Given the description of an element on the screen output the (x, y) to click on. 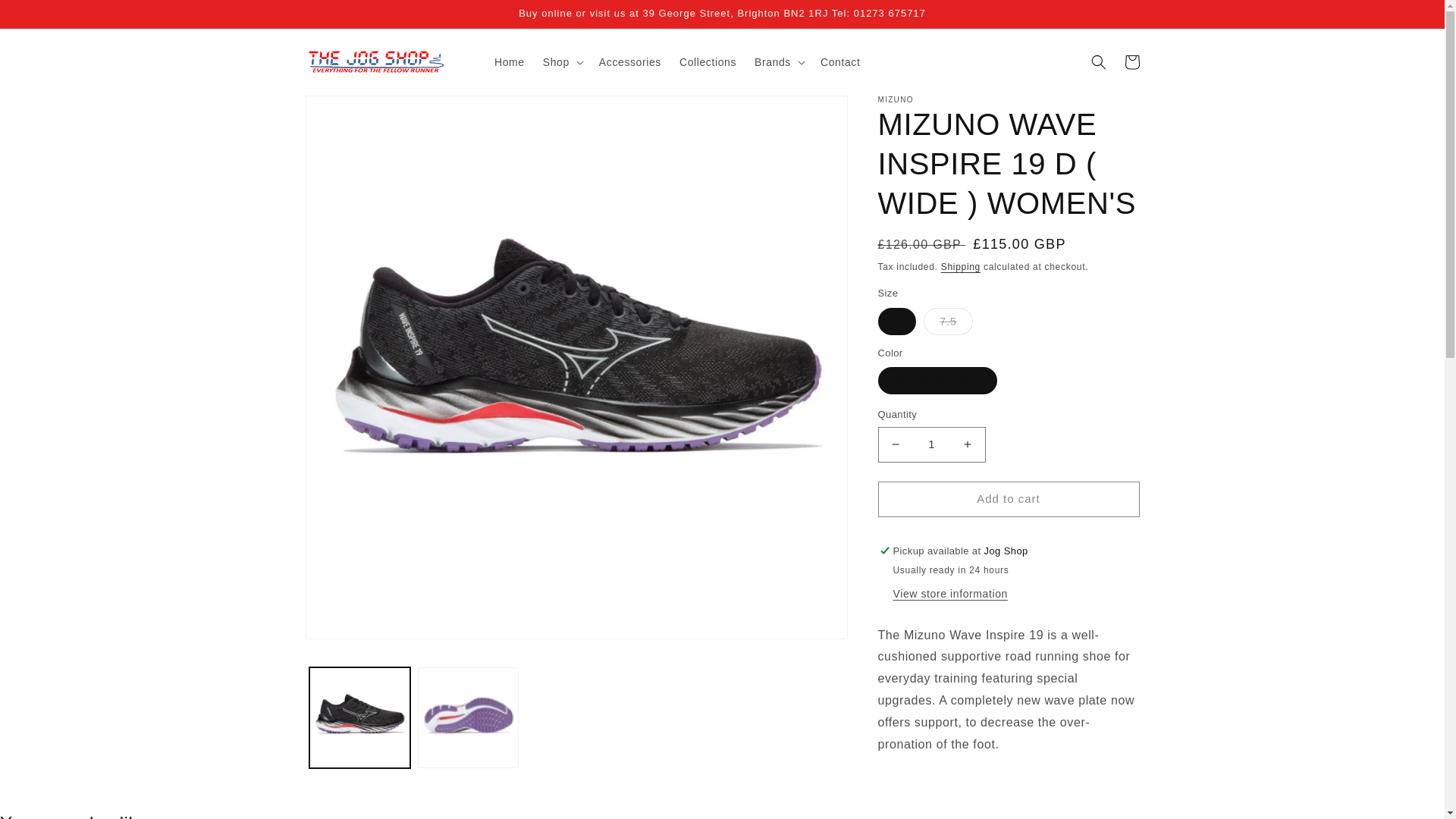
1 (931, 444)
Skip to content (45, 17)
Home (509, 61)
